Given the description of an element on the screen output the (x, y) to click on. 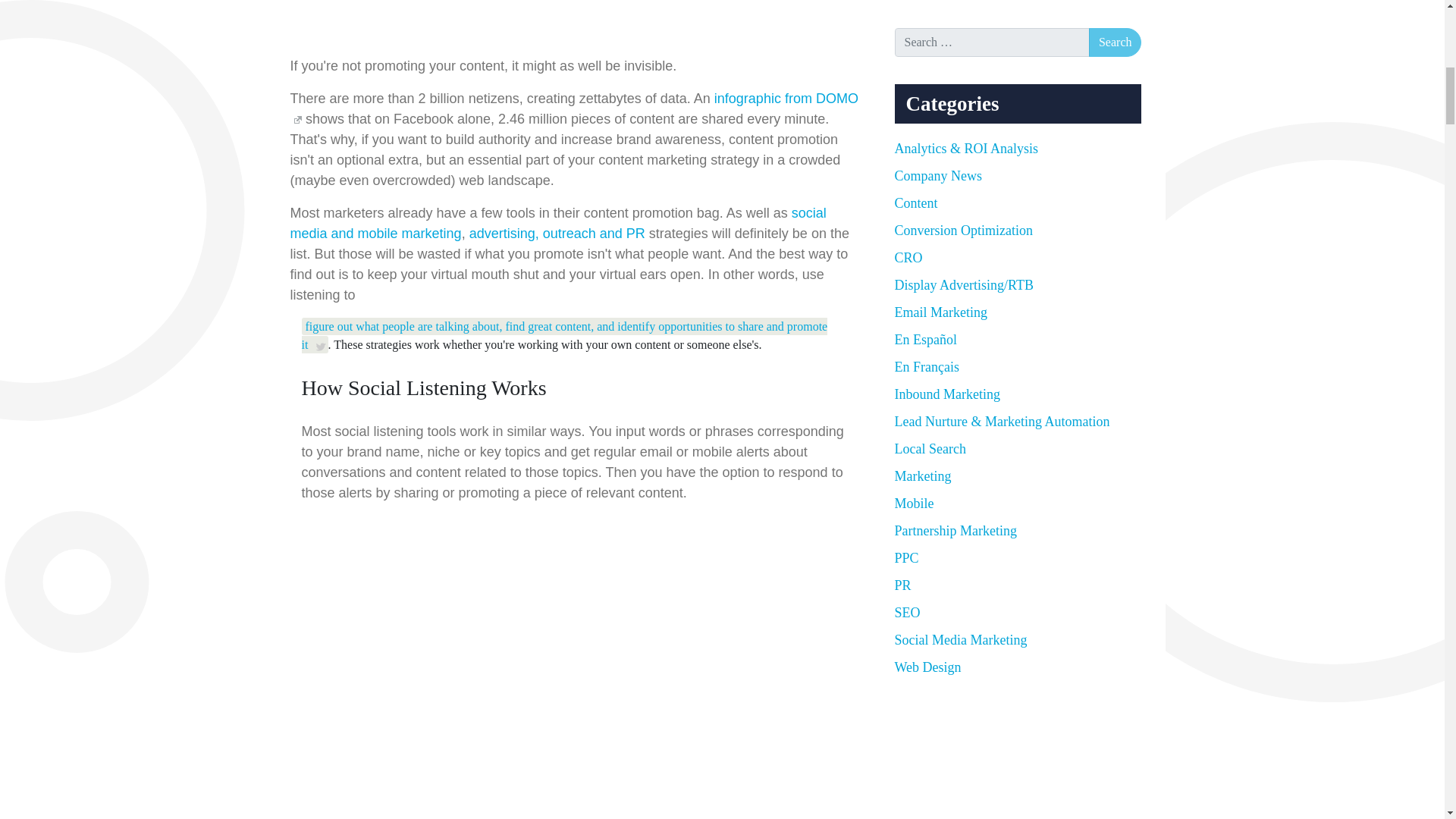
Search (1115, 41)
advertising, outreach and PR (556, 233)
Search (1115, 41)
social media and mobile marketing (557, 222)
content-promotion-sharing (531, 22)
infographic from DOMO (573, 108)
